Given the description of an element on the screen output the (x, y) to click on. 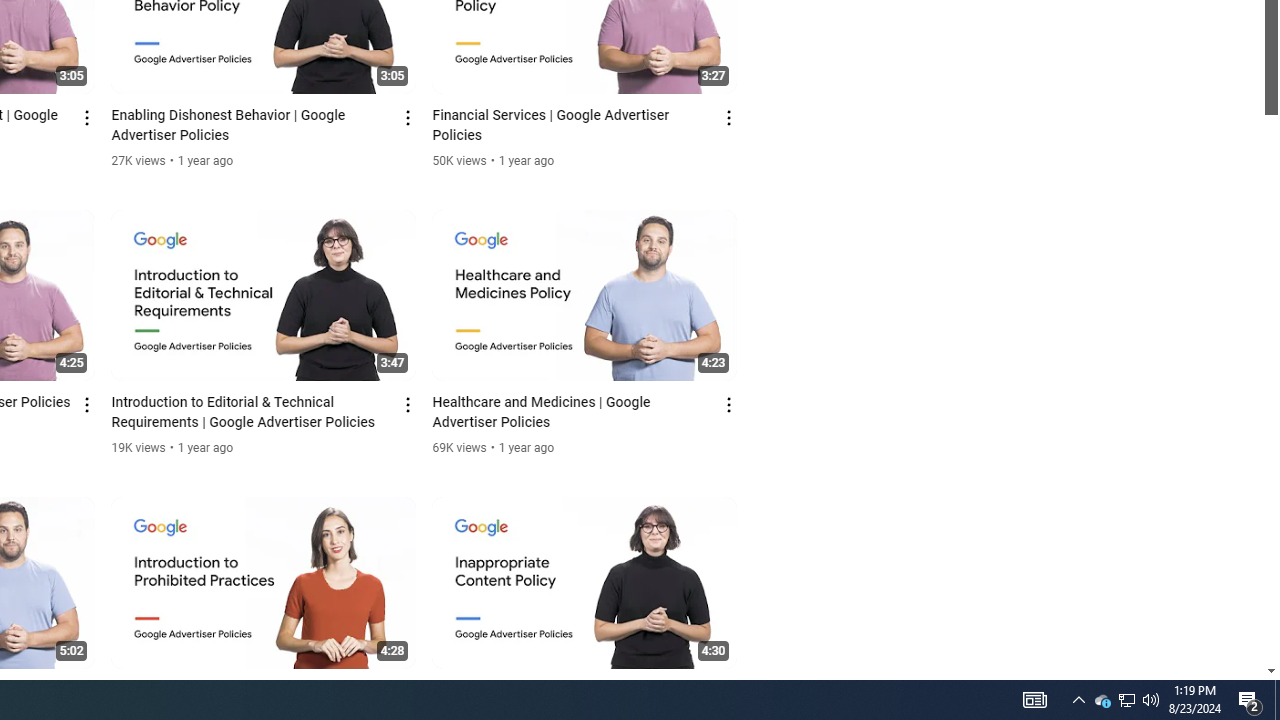
Action menu (729, 691)
